Given the description of an element on the screen output the (x, y) to click on. 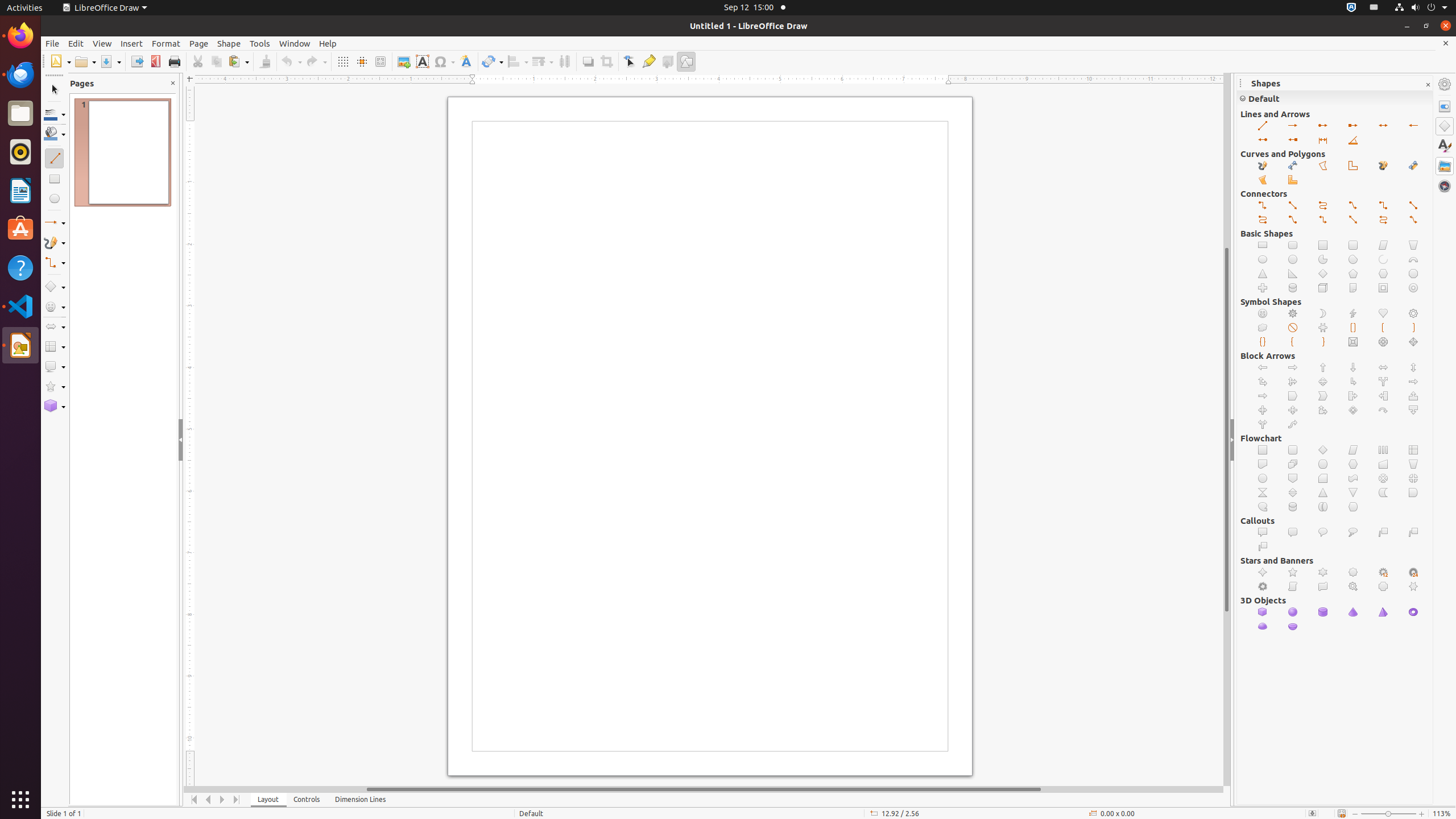
Line Connector with Arrows Element type: list-item (1413, 219)
Arc Element type: list-item (1383, 259)
5-Point Star Element type: list-item (1292, 572)
Right Arrow Callout Element type: list-item (1353, 396)
Shadow Element type: toggle-button (587, 61)
